Given the description of an element on the screen output the (x, y) to click on. 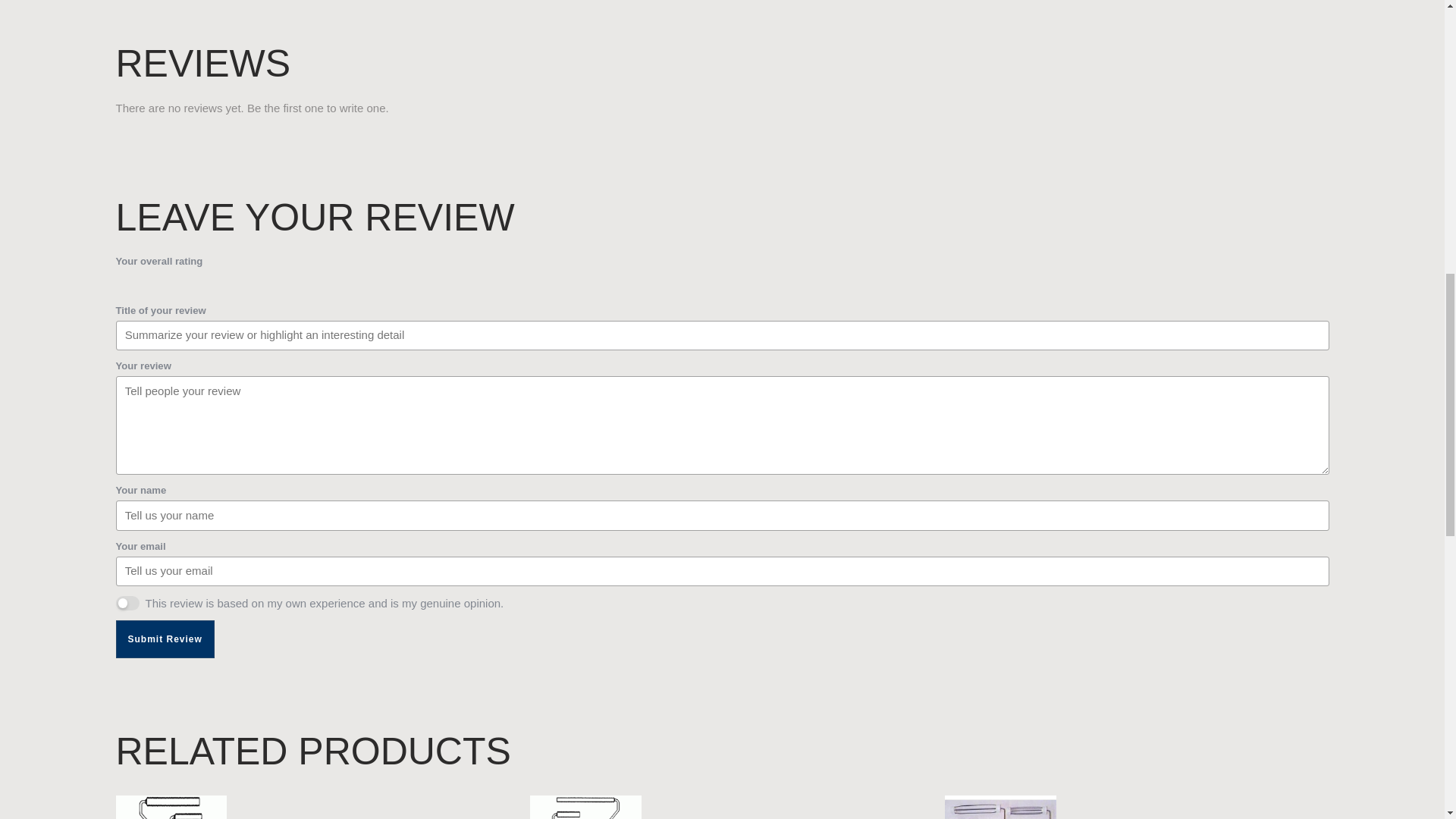
rollrhnd-500x500 - LeapTech Composite Materials and Parts (1000, 807)
fgr3-500x500 - LeapTech Composite Materials and Parts (585, 807)
1 (127, 603)
fgr4-500x500 - LeapTech Composite Materials and Parts (171, 807)
